Given the description of an element on the screen output the (x, y) to click on. 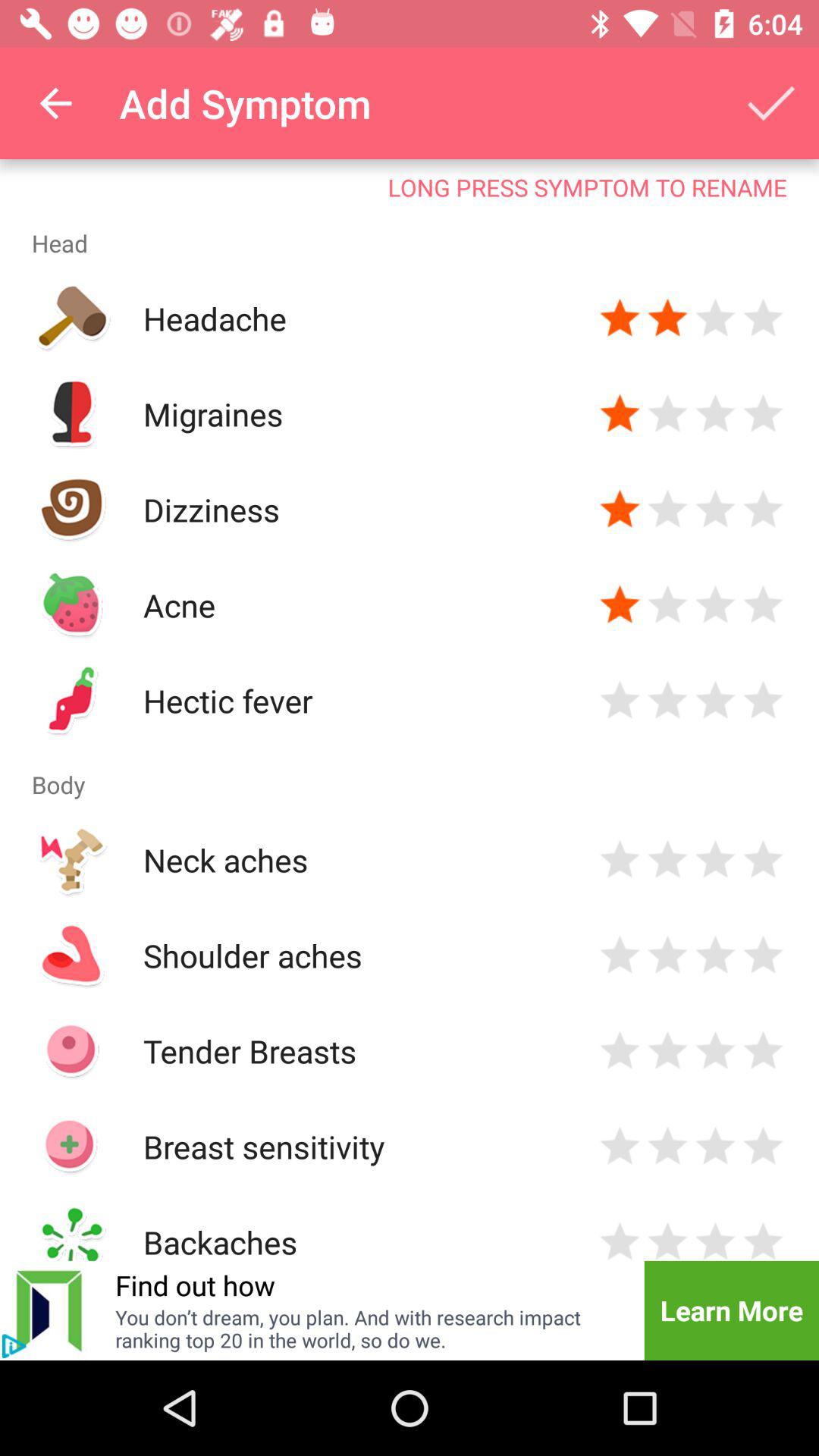
rating option (715, 700)
